Given the description of an element on the screen output the (x, y) to click on. 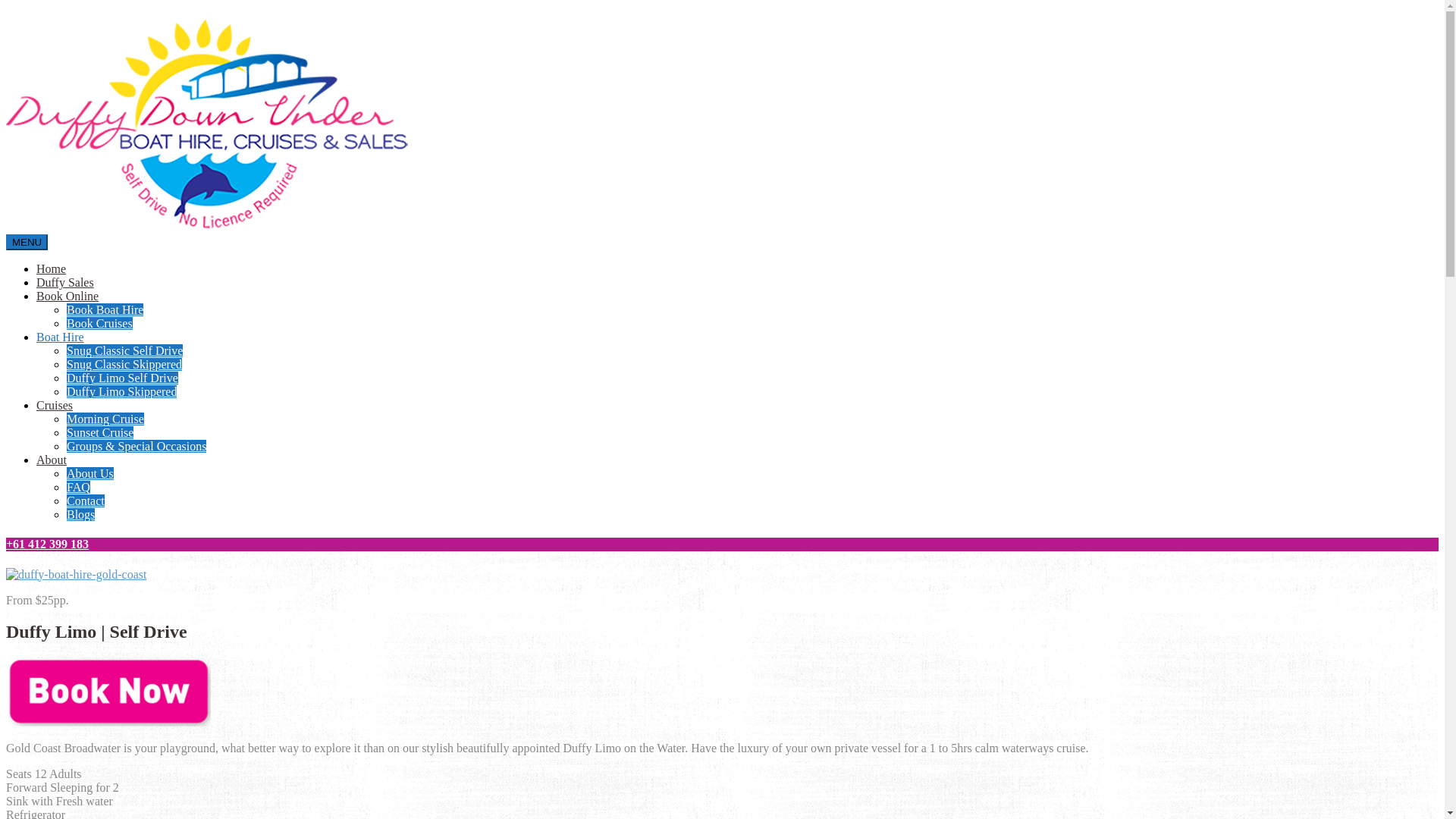
Blogs Element type: text (80, 514)
Sunset Cruise Element type: text (99, 432)
Duffy Sales Element type: text (65, 282)
Book Boat Hire Element type: text (104, 309)
Morning Cruise Element type: text (105, 418)
Cruises Element type: text (54, 404)
+61 412 399 183 Element type: text (722, 544)
Boat Hire Element type: text (60, 336)
MENU Element type: text (26, 242)
Duffy Limo Skippered Element type: text (121, 391)
Book Online Element type: text (67, 295)
FAQ Element type: text (78, 486)
About Us Element type: text (89, 473)
Contact Element type: text (85, 500)
Snug Classic Self Drive Element type: text (124, 350)
Book Cruises Element type: text (99, 322)
Home Element type: text (50, 268)
Groups & Special Occasions Element type: text (136, 445)
Snug Classic Skippered Element type: text (124, 363)
About Element type: text (51, 459)
Duffy Limo Self Drive Element type: text (122, 377)
